Given the description of an element on the screen output the (x, y) to click on. 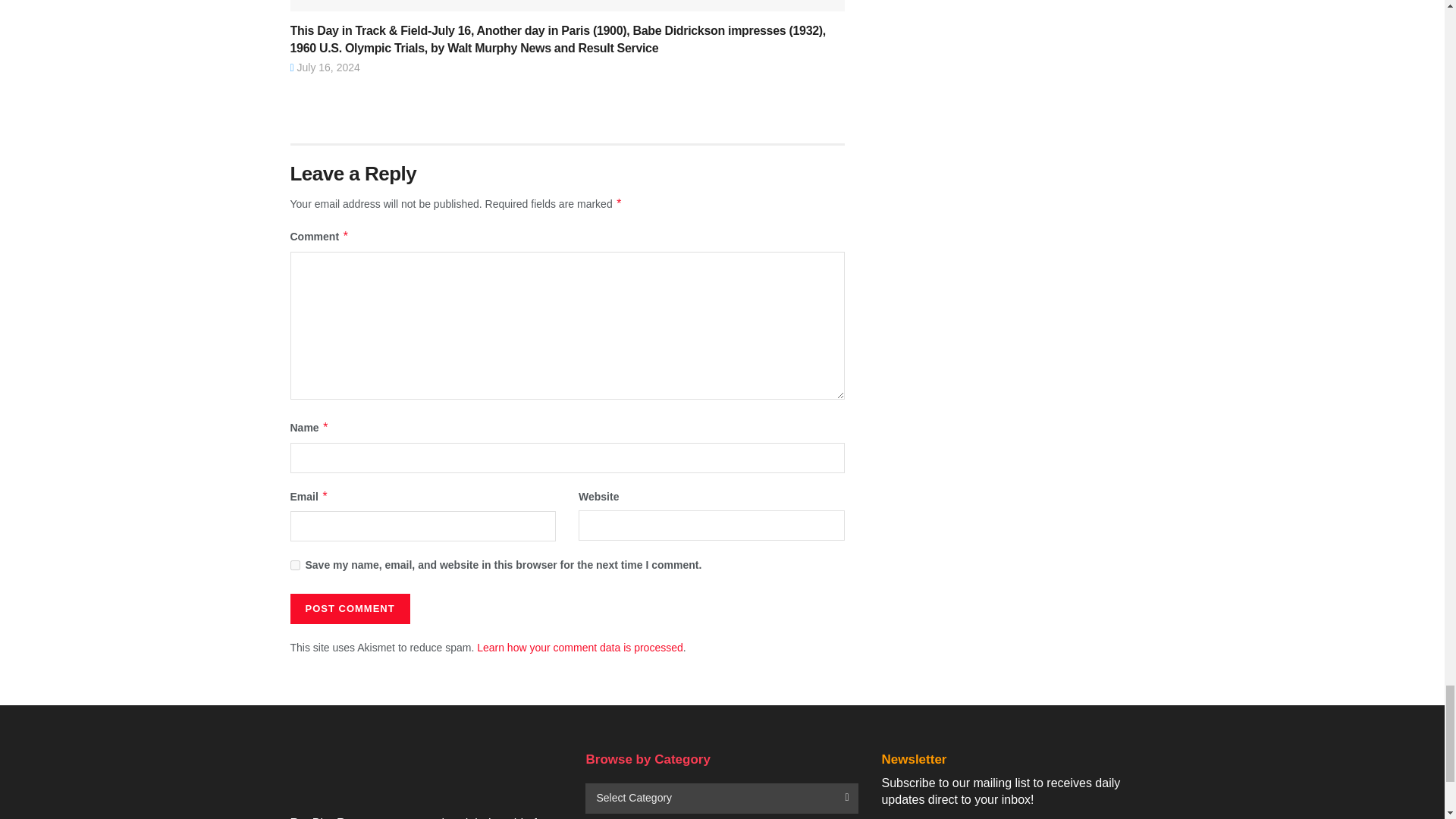
yes (294, 565)
Post Comment (349, 608)
